Given the description of an element on the screen output the (x, y) to click on. 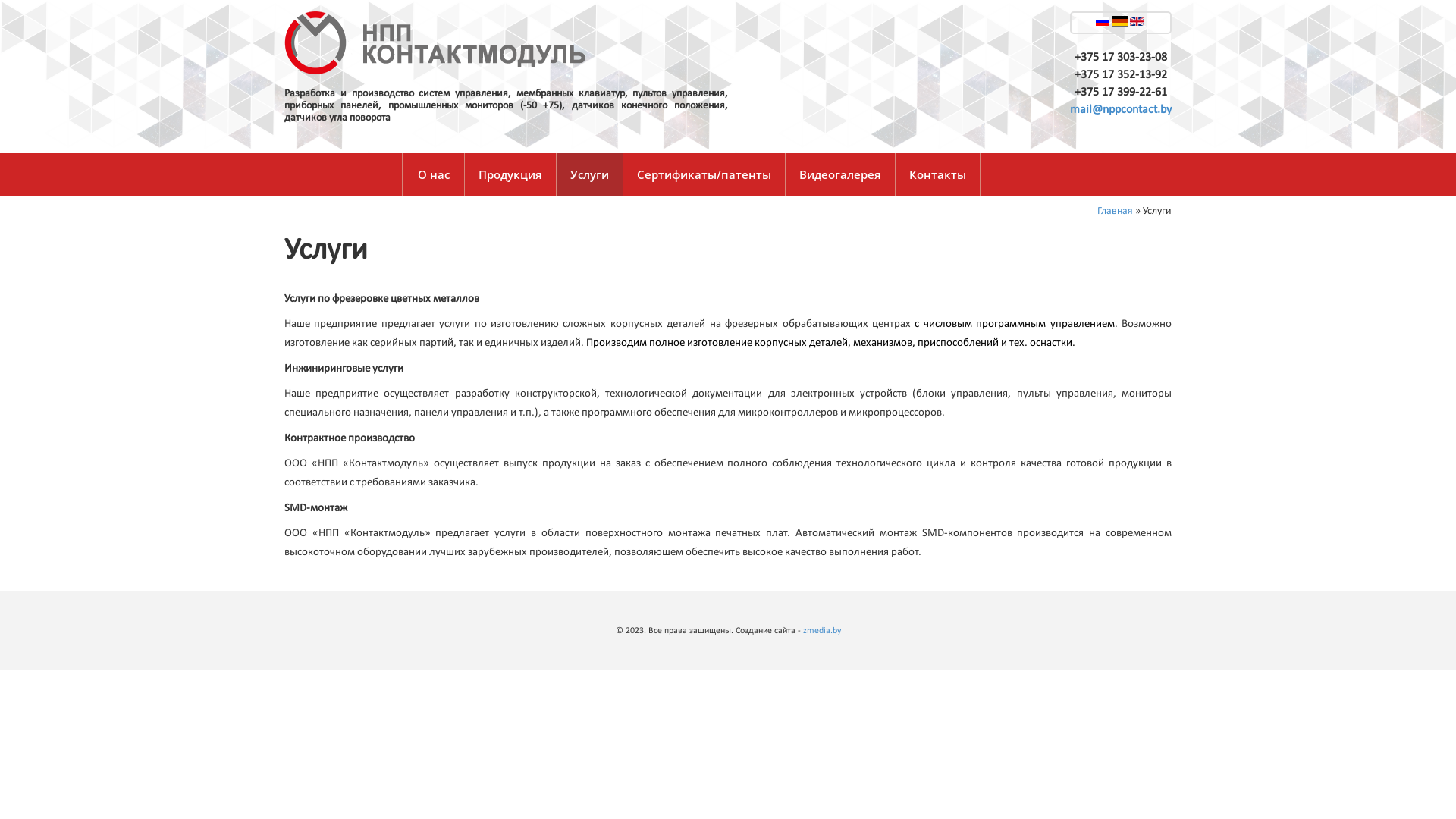
zmedia.by Element type: text (821, 630)
mail@nppcontact.by Element type: text (1120, 109)
